Given the description of an element on the screen output the (x, y) to click on. 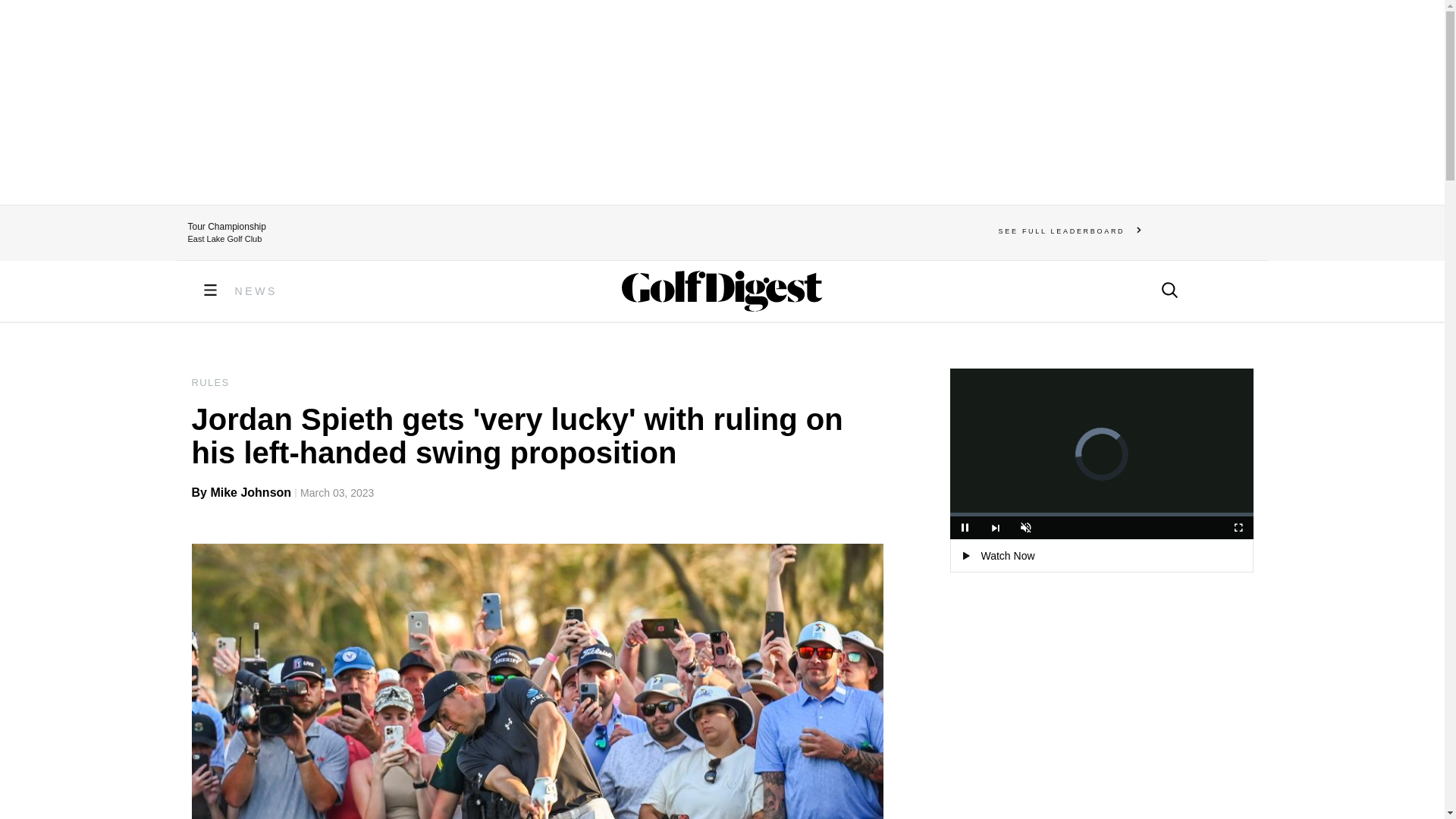
Pause (964, 527)
SEE FULL LEADERBOARD (1069, 230)
Unmute (1025, 527)
NEWS (256, 291)
Next playlist item (994, 527)
